Given the description of an element on the screen output the (x, y) to click on. 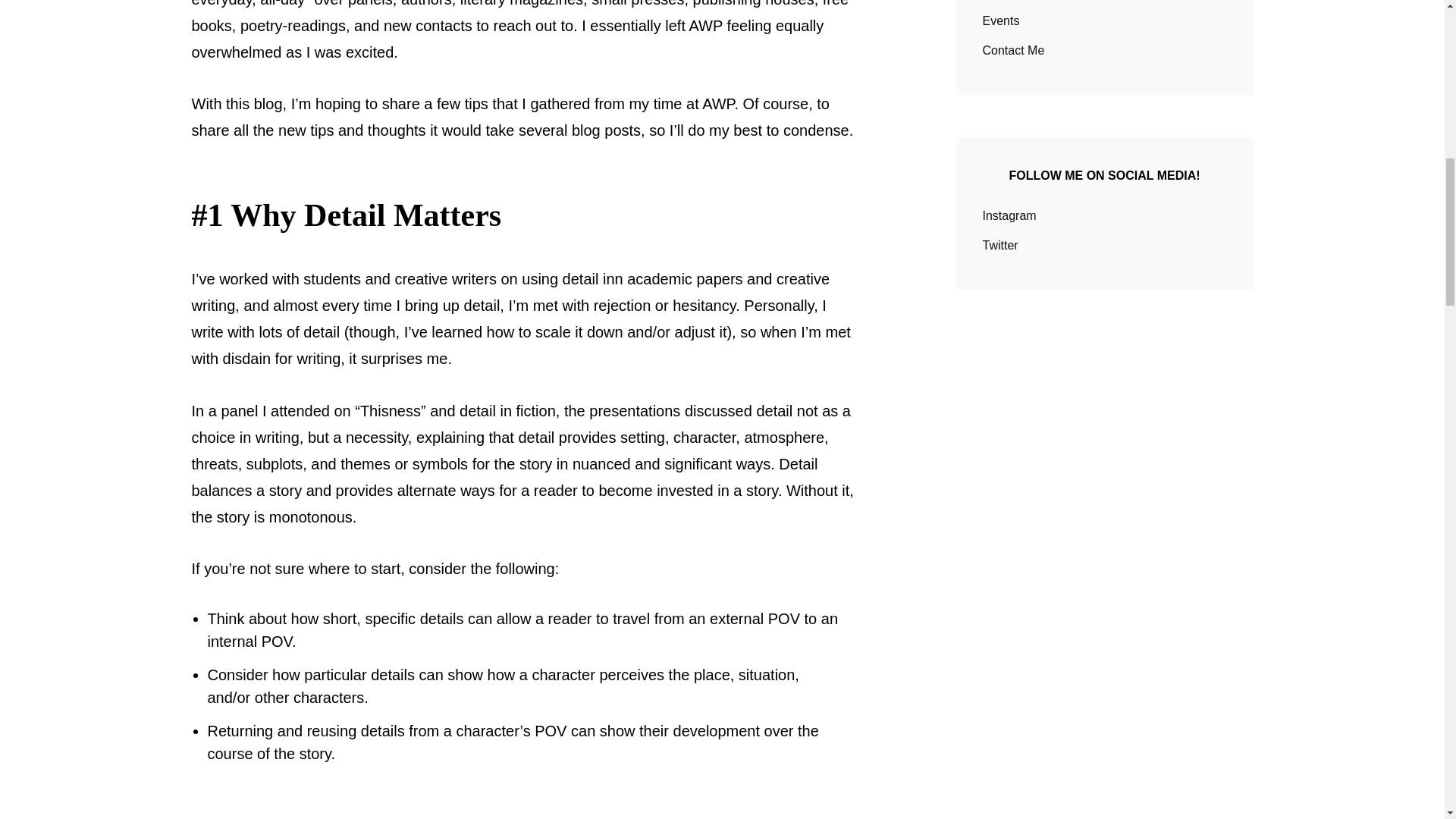
Twitter (999, 245)
Instagram (1009, 215)
Events (1001, 20)
Contact Me (1013, 50)
